Given the description of an element on the screen output the (x, y) to click on. 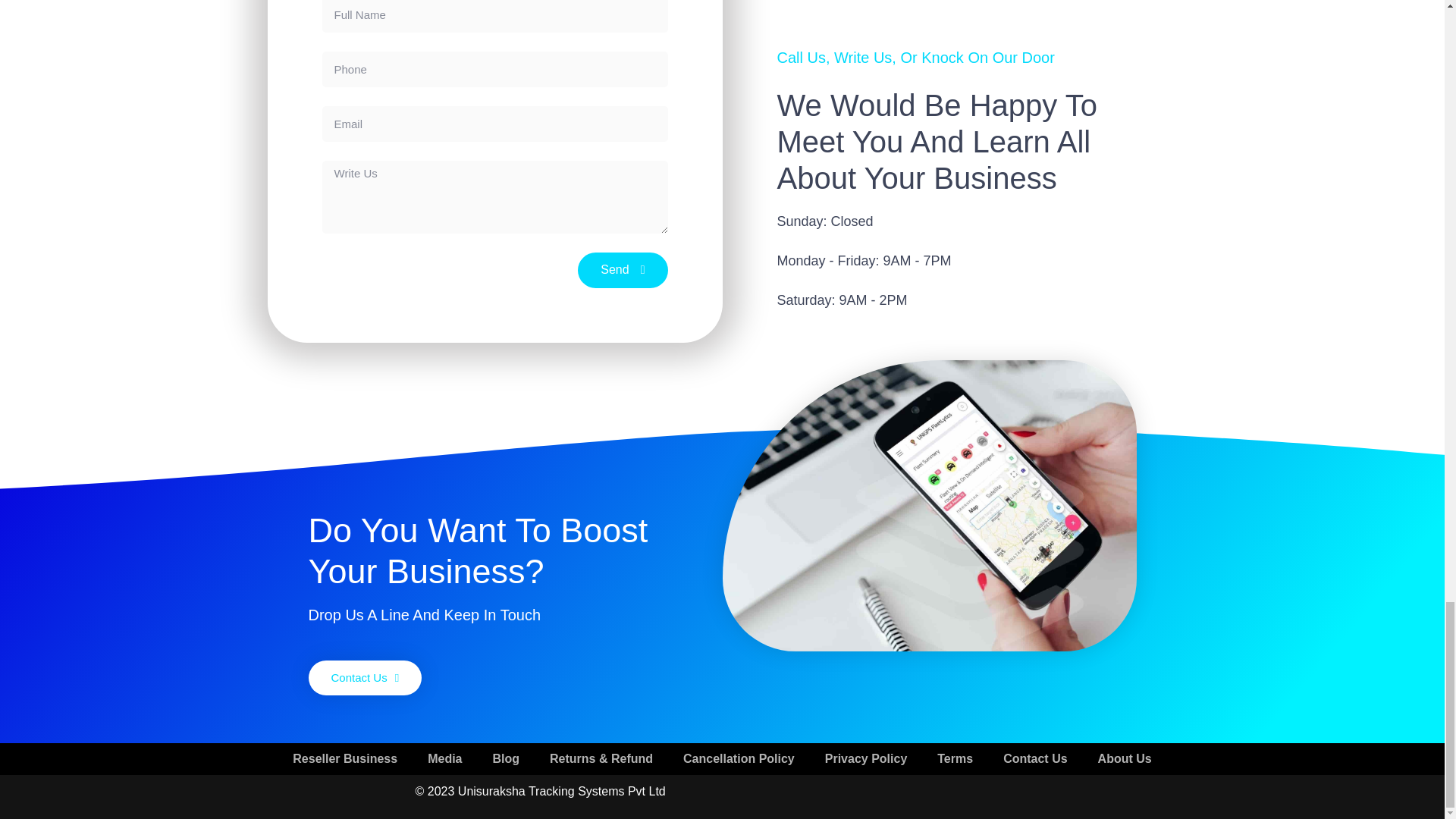
Send (622, 270)
